Given the description of an element on the screen output the (x, y) to click on. 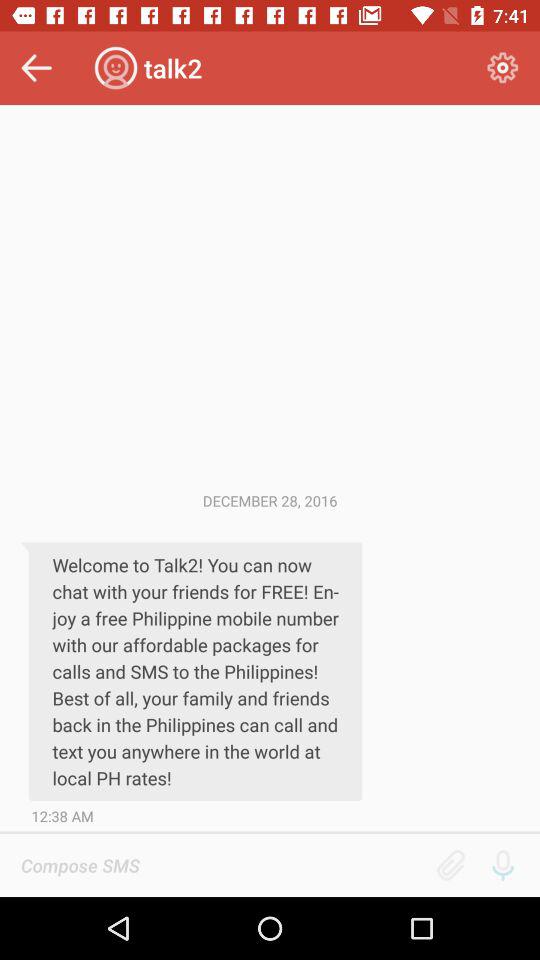
write message (222, 865)
